Given the description of an element on the screen output the (x, y) to click on. 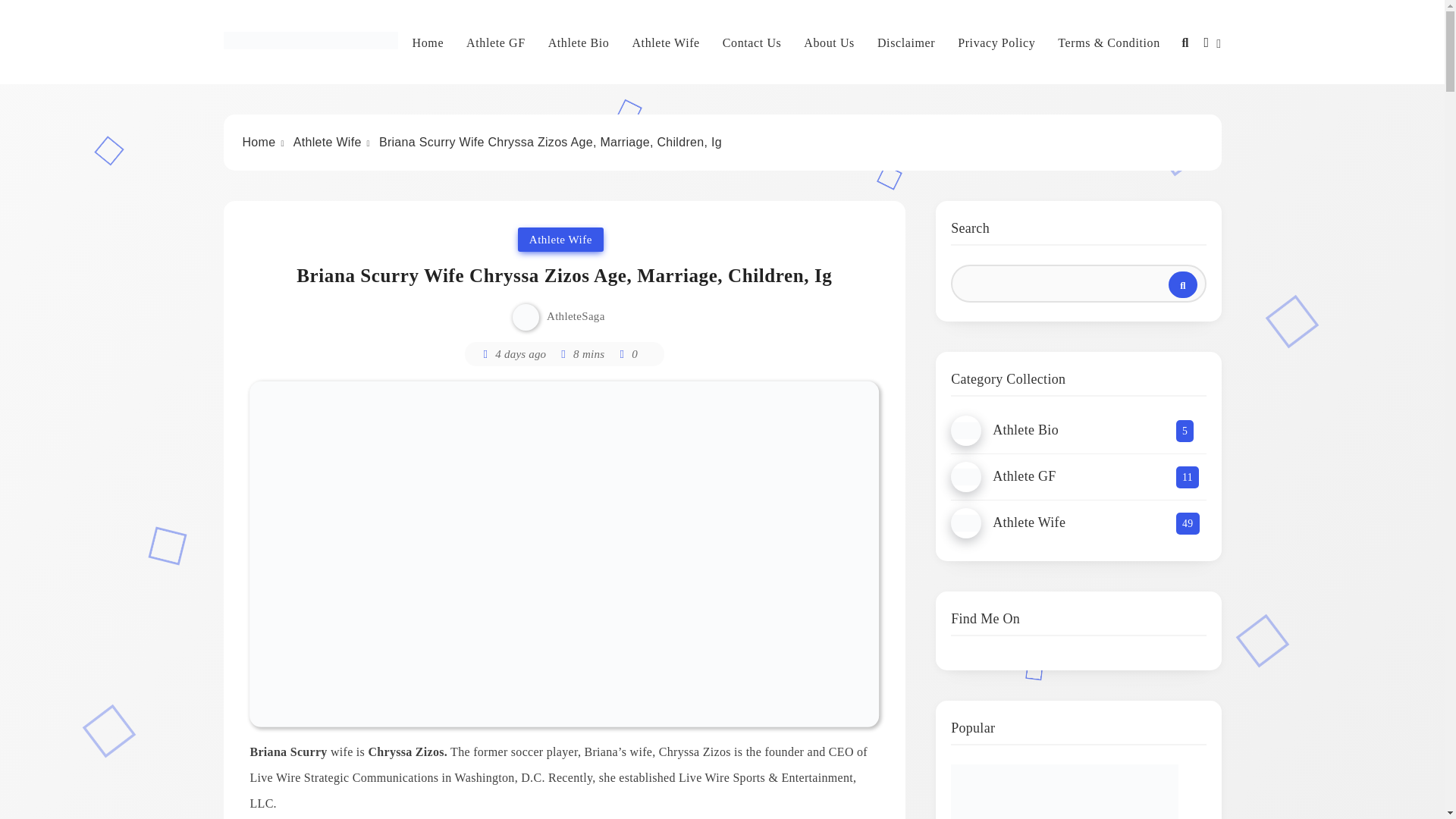
Athlete GF (495, 43)
AthleteSaga (576, 316)
Home (428, 43)
Home (259, 141)
Contact Us (751, 43)
Athlete Wife (561, 239)
Athlete Wife (664, 43)
Athlete Bio (579, 43)
About Us (828, 43)
Privacy Policy (996, 43)
4 days ago (520, 354)
Athlete Wife (327, 141)
AthleteSaga.com (329, 70)
0 (626, 353)
Disclaimer (905, 43)
